Given the description of an element on the screen output the (x, y) to click on. 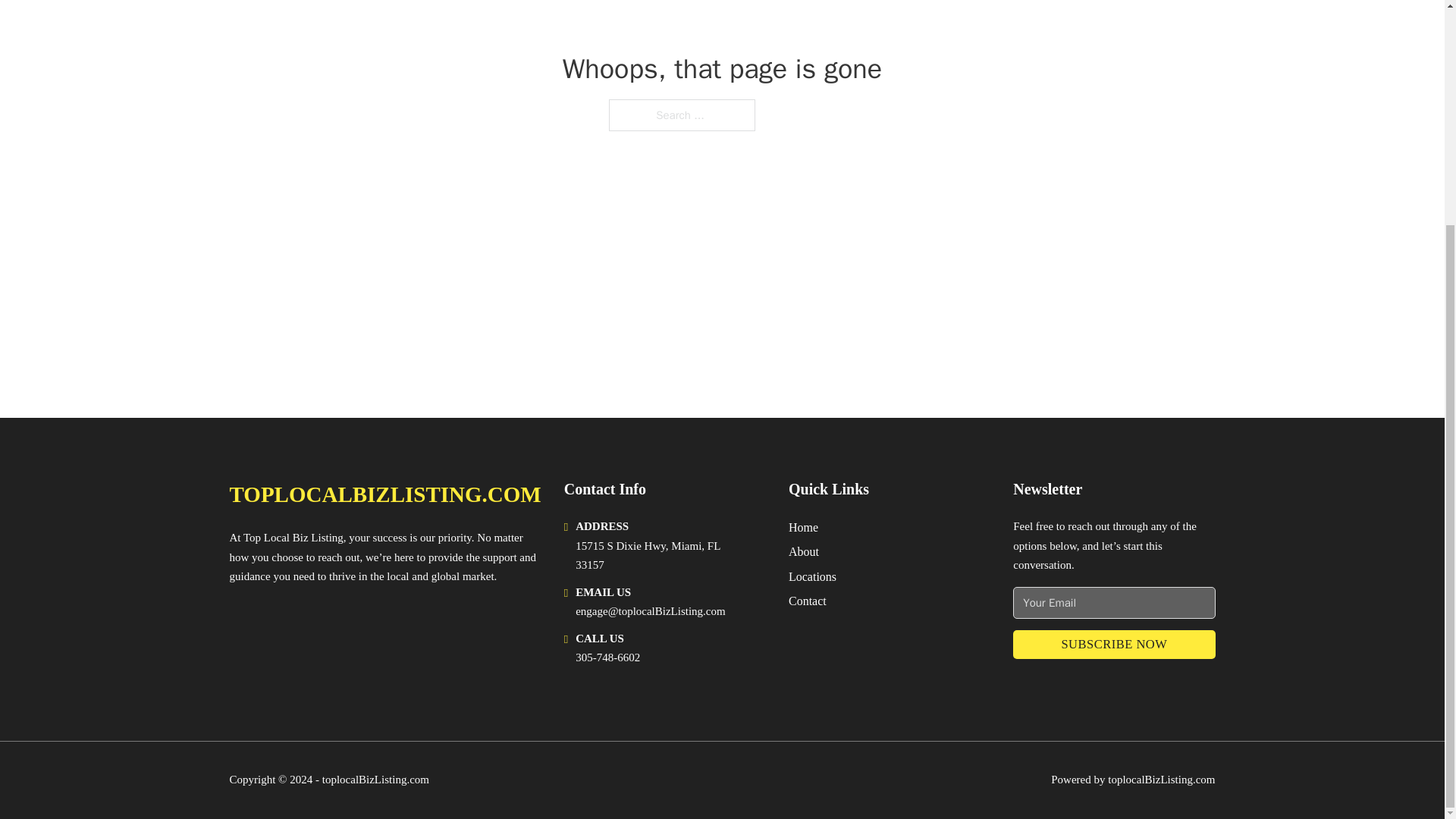
TOPLOCALBIZLISTING.COM (384, 494)
SUBSCRIBE NOW (1113, 644)
Contact (808, 600)
305-748-6602 (607, 657)
About (803, 551)
Home (803, 526)
Locations (812, 576)
